Given the description of an element on the screen output the (x, y) to click on. 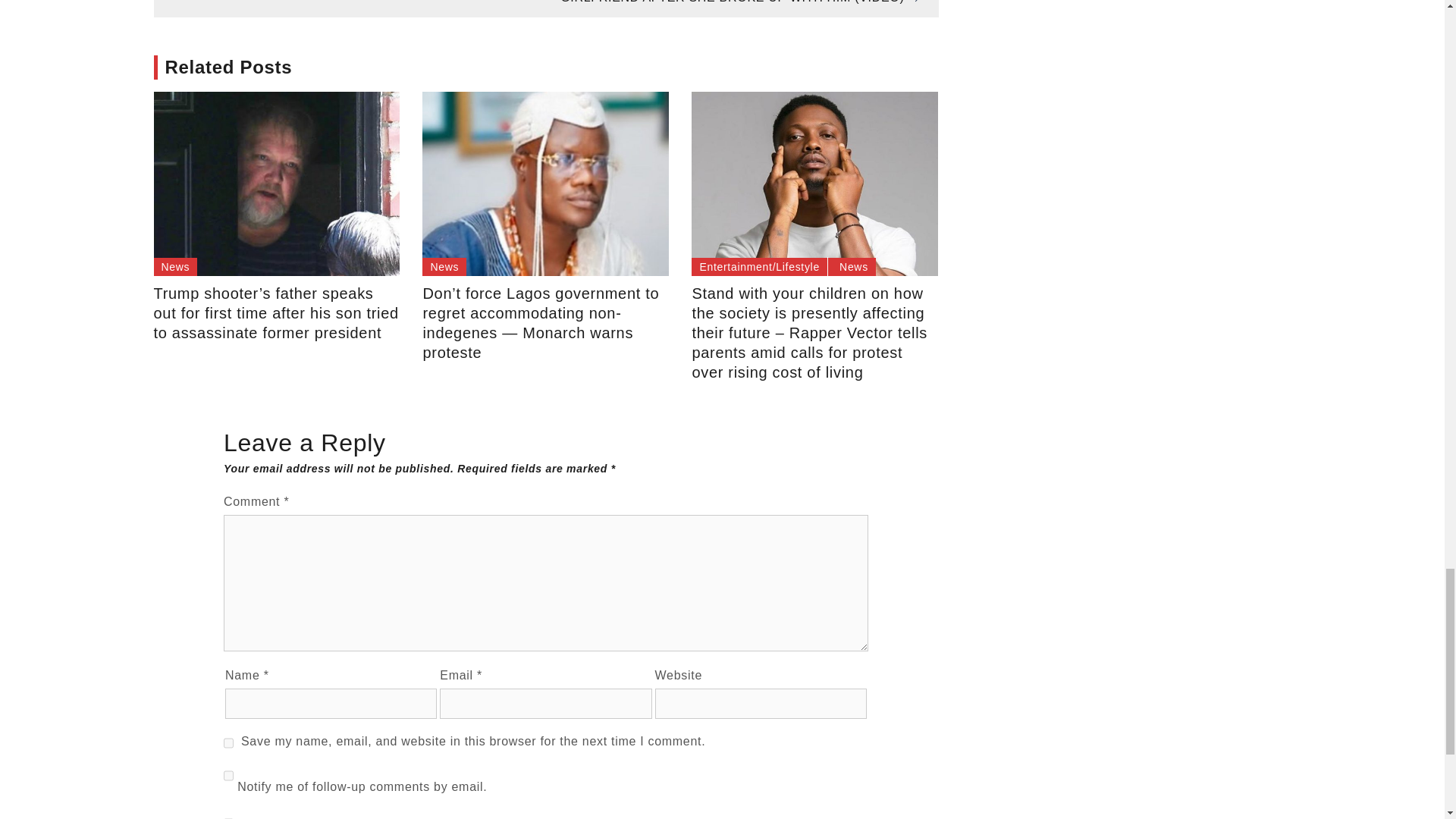
subscribe (228, 813)
